Given the description of an element on the screen output the (x, y) to click on. 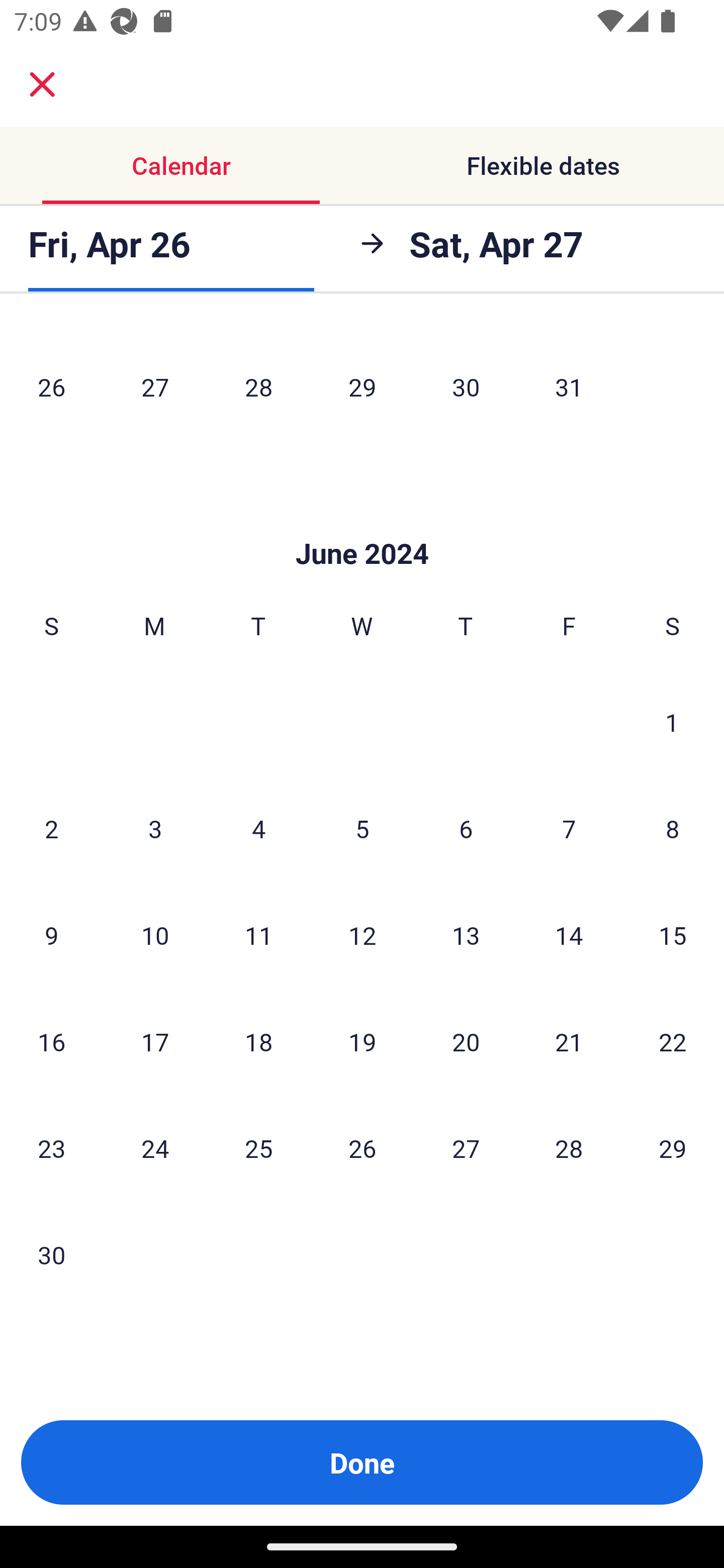
close. (42, 84)
Flexible dates (542, 164)
26 Sunday, May 26, 2024 (51, 386)
27 Monday, May 27, 2024 (155, 386)
28 Tuesday, May 28, 2024 (258, 386)
29 Wednesday, May 29, 2024 (362, 386)
30 Thursday, May 30, 2024 (465, 386)
31 Friday, May 31, 2024 (569, 386)
Skip to Done (362, 523)
1 Saturday, June 1, 2024 (672, 722)
2 Sunday, June 2, 2024 (51, 828)
3 Monday, June 3, 2024 (155, 828)
4 Tuesday, June 4, 2024 (258, 828)
5 Wednesday, June 5, 2024 (362, 828)
6 Thursday, June 6, 2024 (465, 828)
7 Friday, June 7, 2024 (569, 828)
8 Saturday, June 8, 2024 (672, 828)
9 Sunday, June 9, 2024 (51, 934)
10 Monday, June 10, 2024 (155, 934)
11 Tuesday, June 11, 2024 (258, 934)
12 Wednesday, June 12, 2024 (362, 934)
13 Thursday, June 13, 2024 (465, 934)
14 Friday, June 14, 2024 (569, 934)
15 Saturday, June 15, 2024 (672, 934)
16 Sunday, June 16, 2024 (51, 1040)
17 Monday, June 17, 2024 (155, 1040)
18 Tuesday, June 18, 2024 (258, 1040)
19 Wednesday, June 19, 2024 (362, 1040)
20 Thursday, June 20, 2024 (465, 1040)
21 Friday, June 21, 2024 (569, 1040)
22 Saturday, June 22, 2024 (672, 1040)
23 Sunday, June 23, 2024 (51, 1147)
24 Monday, June 24, 2024 (155, 1147)
25 Tuesday, June 25, 2024 (258, 1147)
26 Wednesday, June 26, 2024 (362, 1147)
27 Thursday, June 27, 2024 (465, 1147)
28 Friday, June 28, 2024 (569, 1147)
29 Saturday, June 29, 2024 (672, 1147)
30 Sunday, June 30, 2024 (51, 1254)
Done (361, 1462)
